Given the description of an element on the screen output the (x, y) to click on. 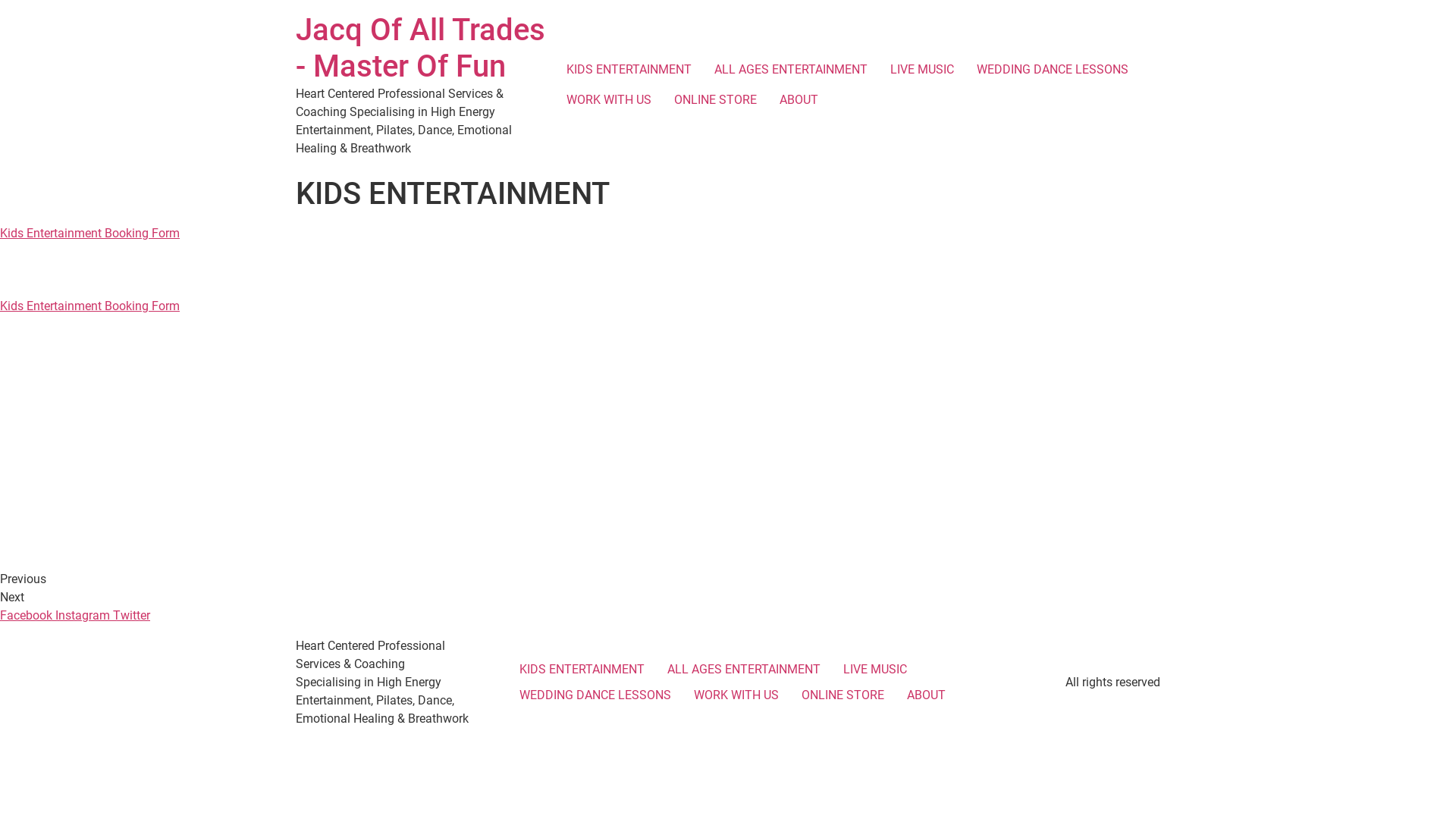
ALL AGES ENTERTAINMENT Element type: text (743, 669)
KIDS ENTERTAINMENT Element type: text (581, 669)
Jacq Of All Trades - Master Of Fun Element type: text (420, 48)
ONLINE STORE Element type: text (842, 695)
WORK WITH US Element type: text (736, 695)
ABOUT Element type: text (925, 695)
WEDDING DANCE LESSONS Element type: text (595, 695)
ONLINE STORE Element type: text (715, 99)
ALL AGES ENTERTAINMENT Element type: text (790, 69)
LIVE MUSIC Element type: text (921, 69)
LIVE MUSIC Element type: text (874, 669)
WEDDING DANCE LESSONS Element type: text (1052, 69)
Kids Entertainment Booking Form Element type: text (89, 305)
Instagram Element type: text (83, 615)
KIDS ENTERTAINMENT Element type: text (628, 69)
Twitter Element type: text (131, 615)
WORK WITH US Element type: text (608, 99)
ABOUT Element type: text (798, 99)
Facebook Element type: text (27, 615)
Kids Entertainment Booking Form Element type: text (89, 232)
